Given the description of an element on the screen output the (x, y) to click on. 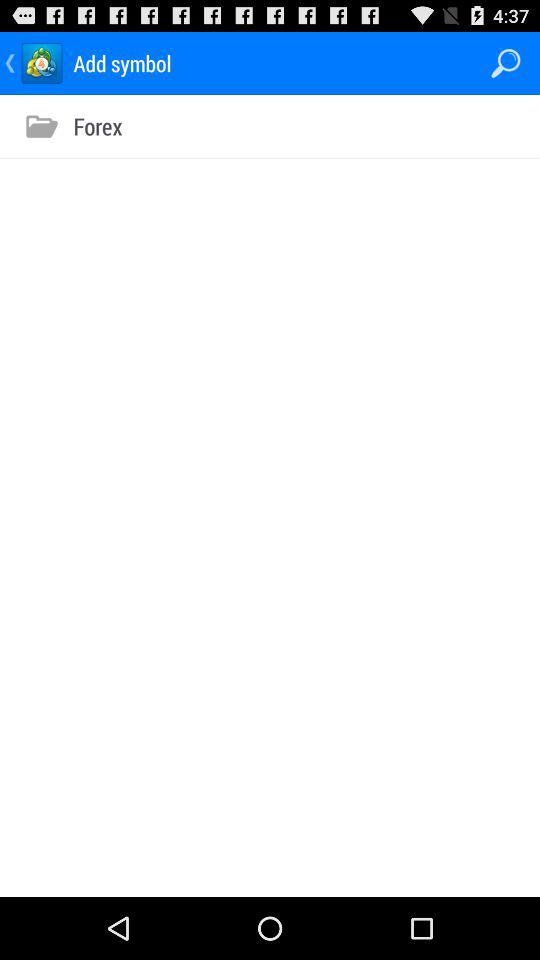
open forex (103, 125)
